Given the description of an element on the screen output the (x, y) to click on. 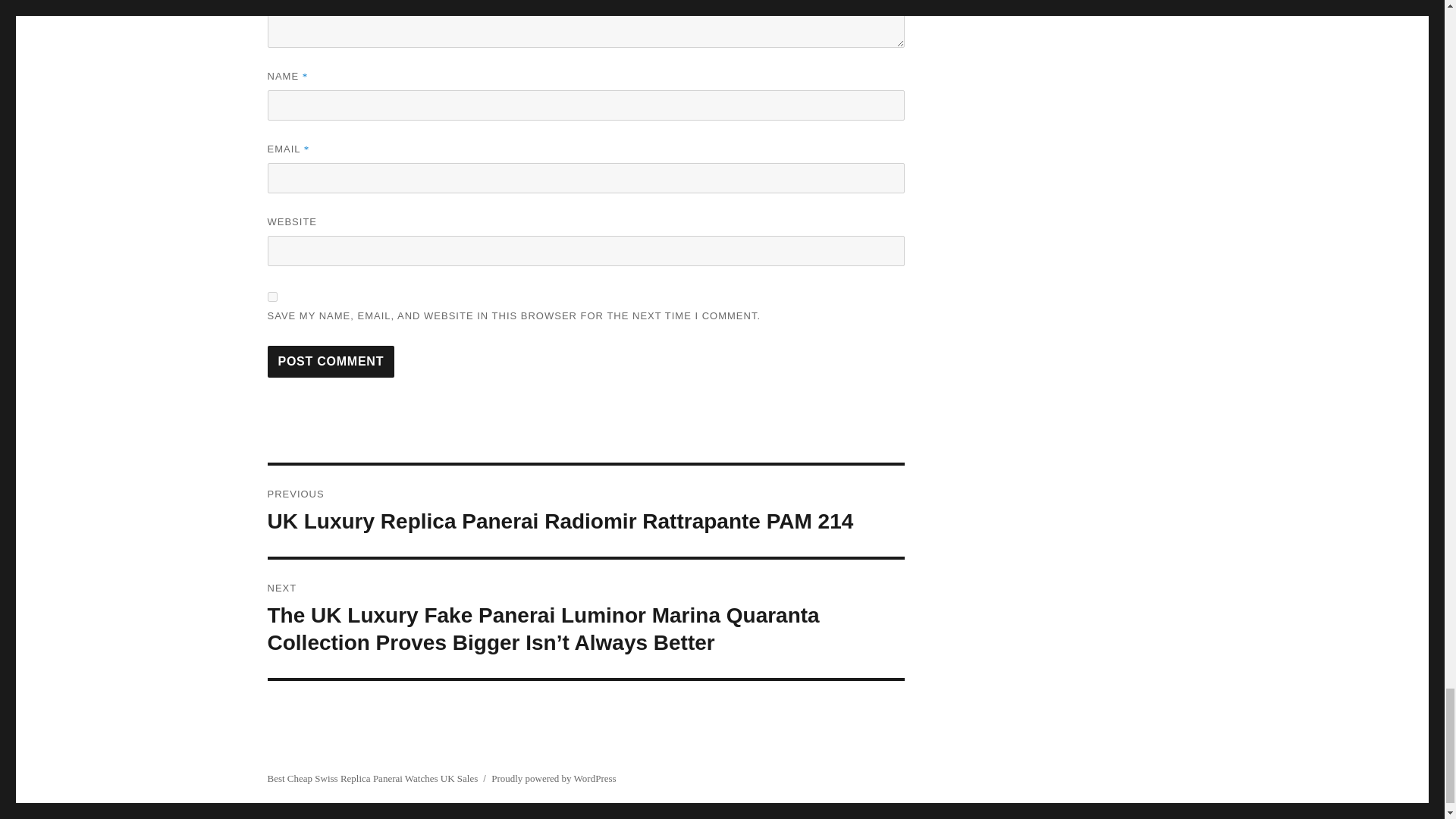
Post Comment (330, 361)
Post Comment (330, 361)
yes (271, 296)
